Given the description of an element on the screen output the (x, y) to click on. 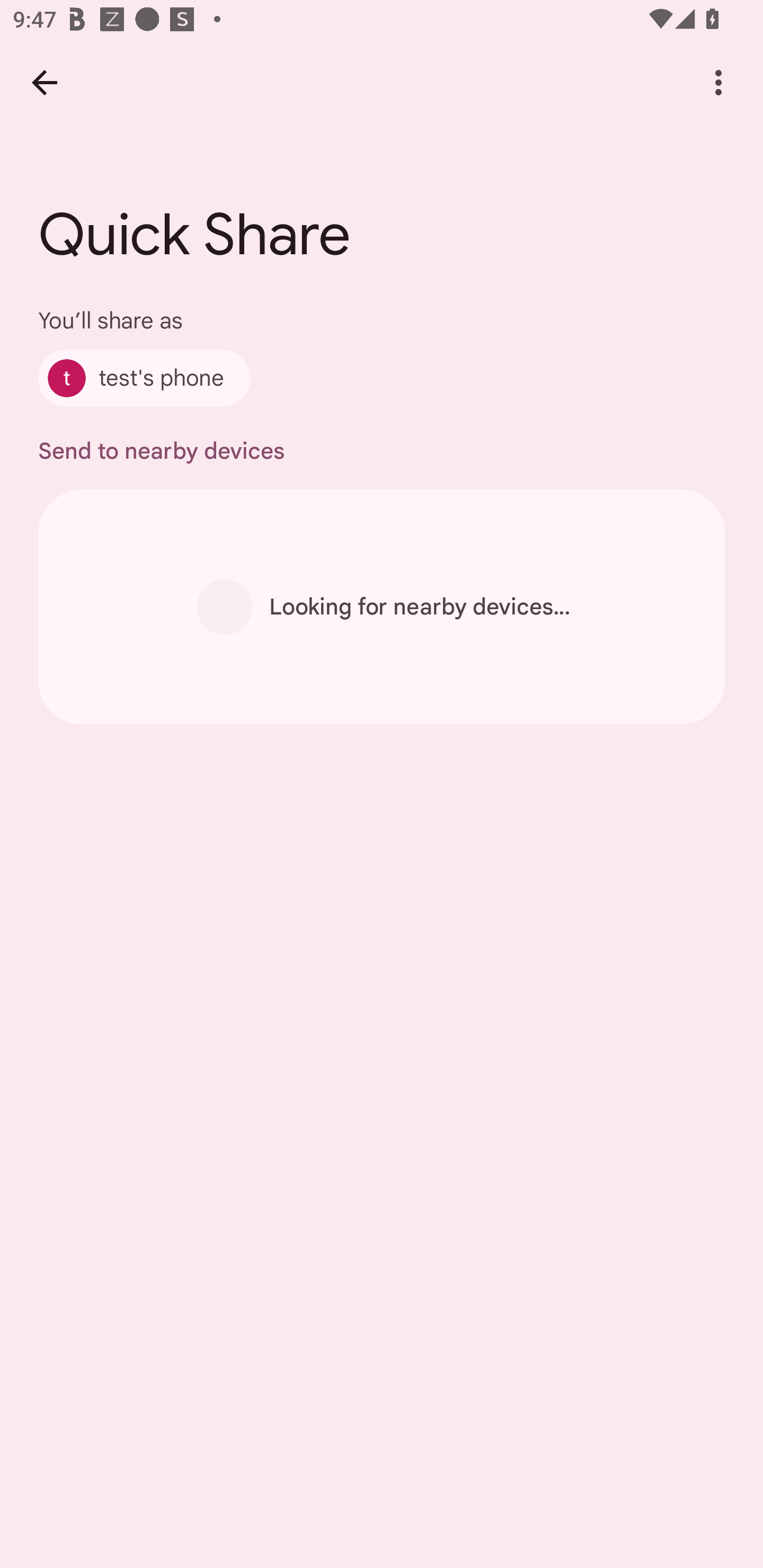
Back (44, 81)
More (718, 81)
test's phone (144, 378)
